Given the description of an element on the screen output the (x, y) to click on. 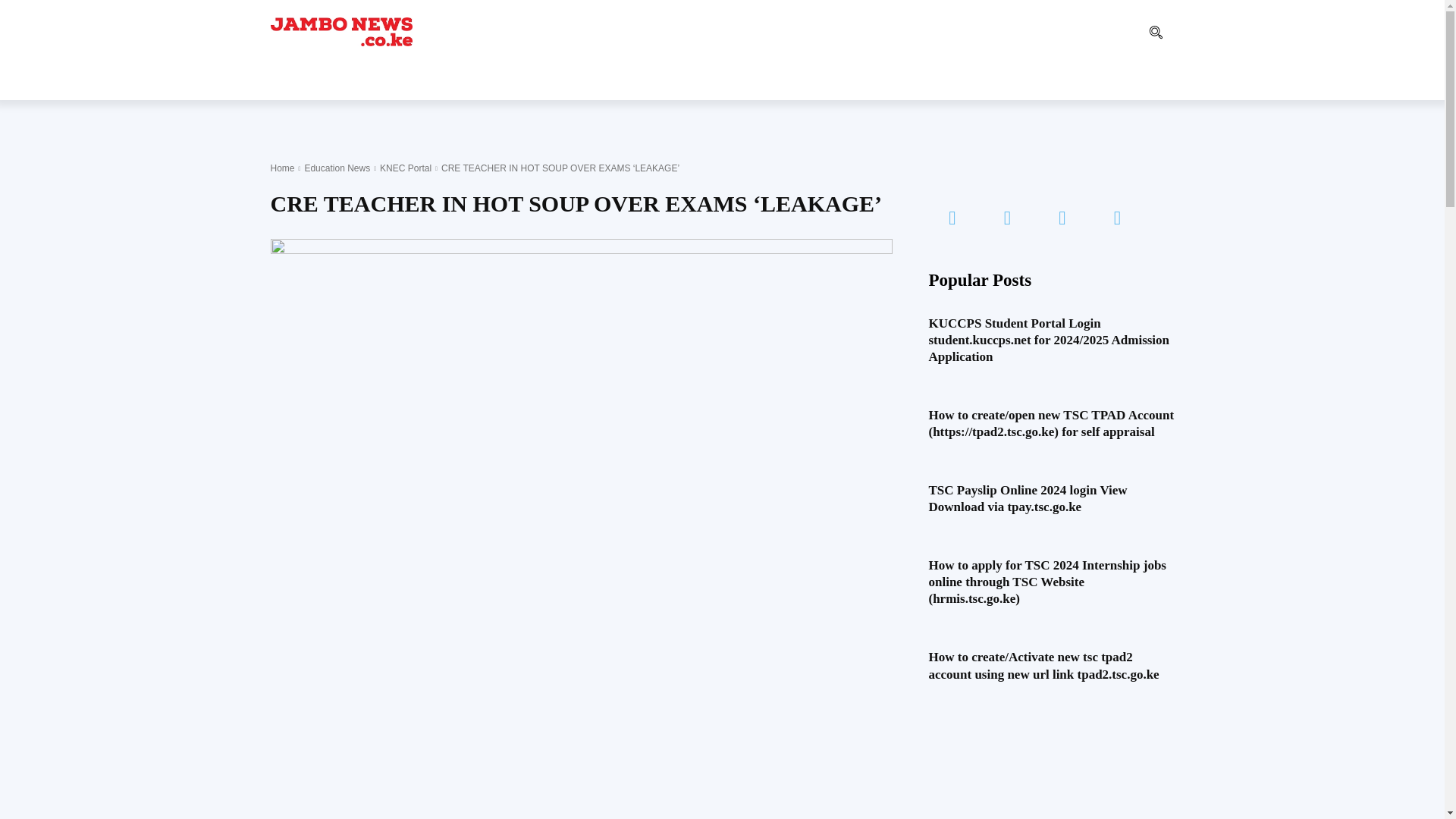
View all posts in Education News (336, 167)
Your Ultimate information Hub (340, 31)
View all posts in KNEC Portal (405, 167)
